Given the description of an element on the screen output the (x, y) to click on. 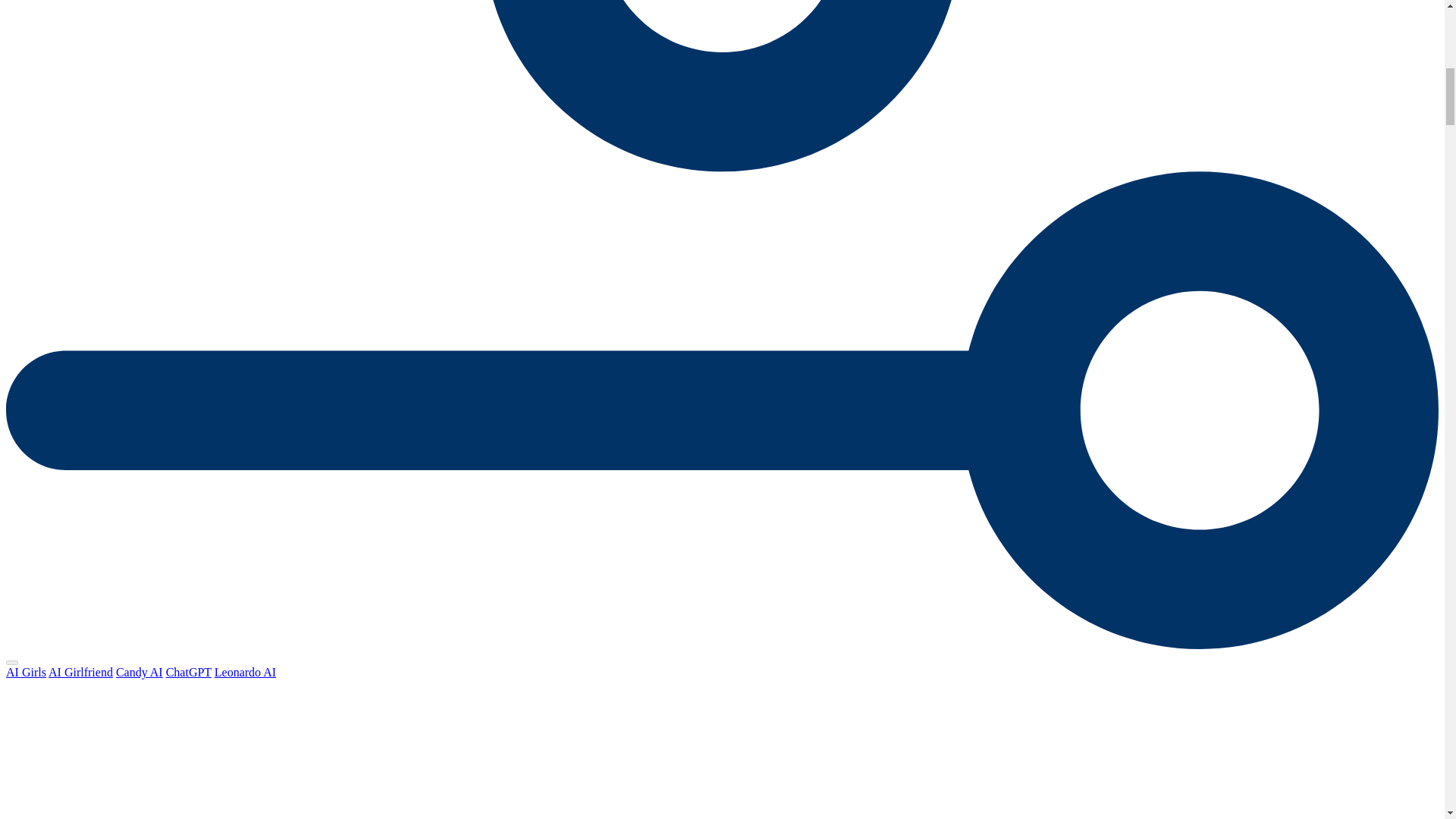
AI Girls (25, 671)
AI Girlfriend (80, 671)
ChatGPT (188, 671)
Leonardo AI (245, 671)
Candy AI (139, 671)
